Given the description of an element on the screen output the (x, y) to click on. 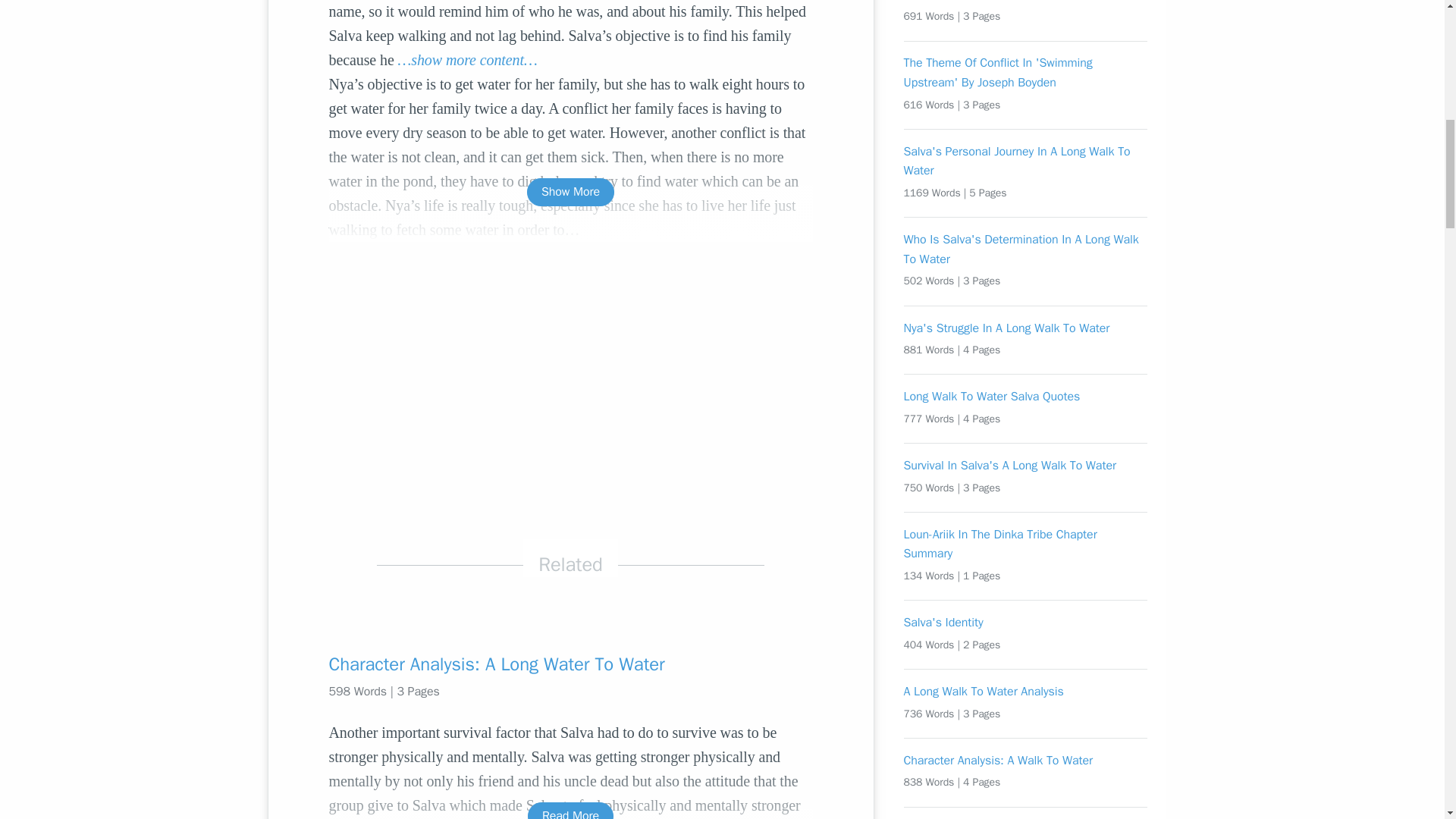
Read More (569, 810)
Show More (570, 192)
Character Analysis: A Long Water To Water (570, 663)
